Given the description of an element on the screen output the (x, y) to click on. 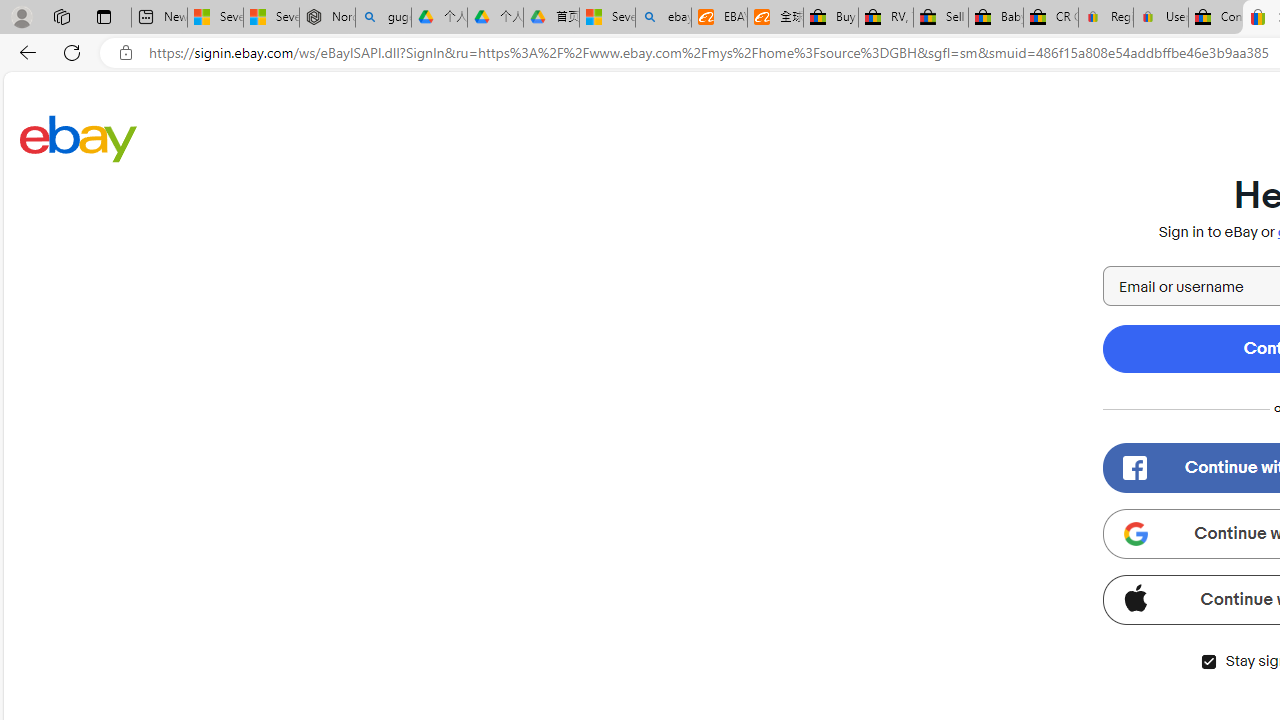
Class: ggl-icon (1135, 533)
eBay Home (78, 138)
Register: Create a personal eBay account (1105, 17)
Stay signed in (1208, 661)
Class: apple-icon (1135, 597)
